Given the description of an element on the screen output the (x, y) to click on. 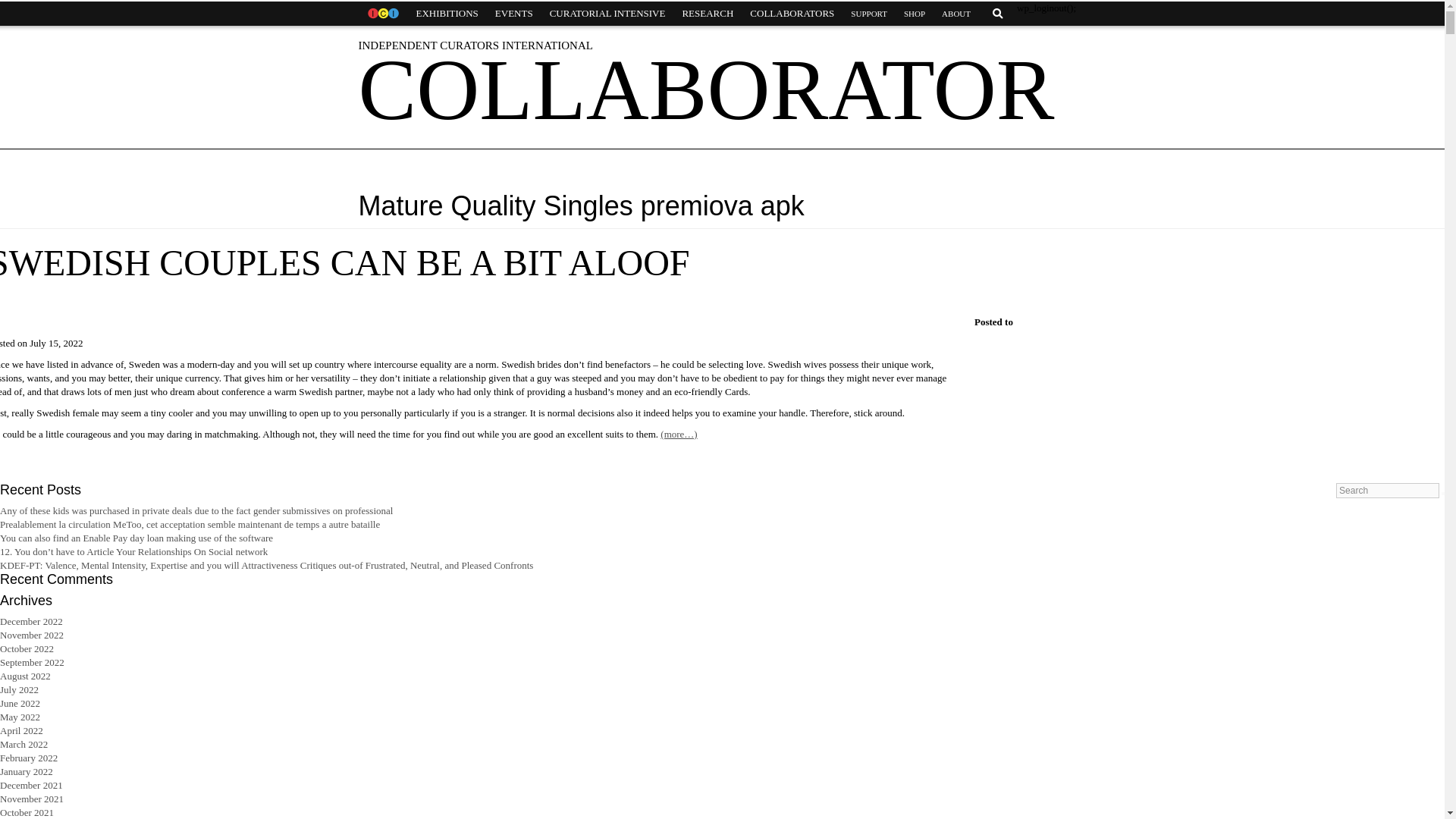
COLLABORATORS (792, 13)
EVENTS (513, 13)
RESEARCH (706, 13)
CURATORIAL INTENSIVE (607, 13)
HOME (382, 13)
EXHIBITIONS (446, 13)
